Given the description of an element on the screen output the (x, y) to click on. 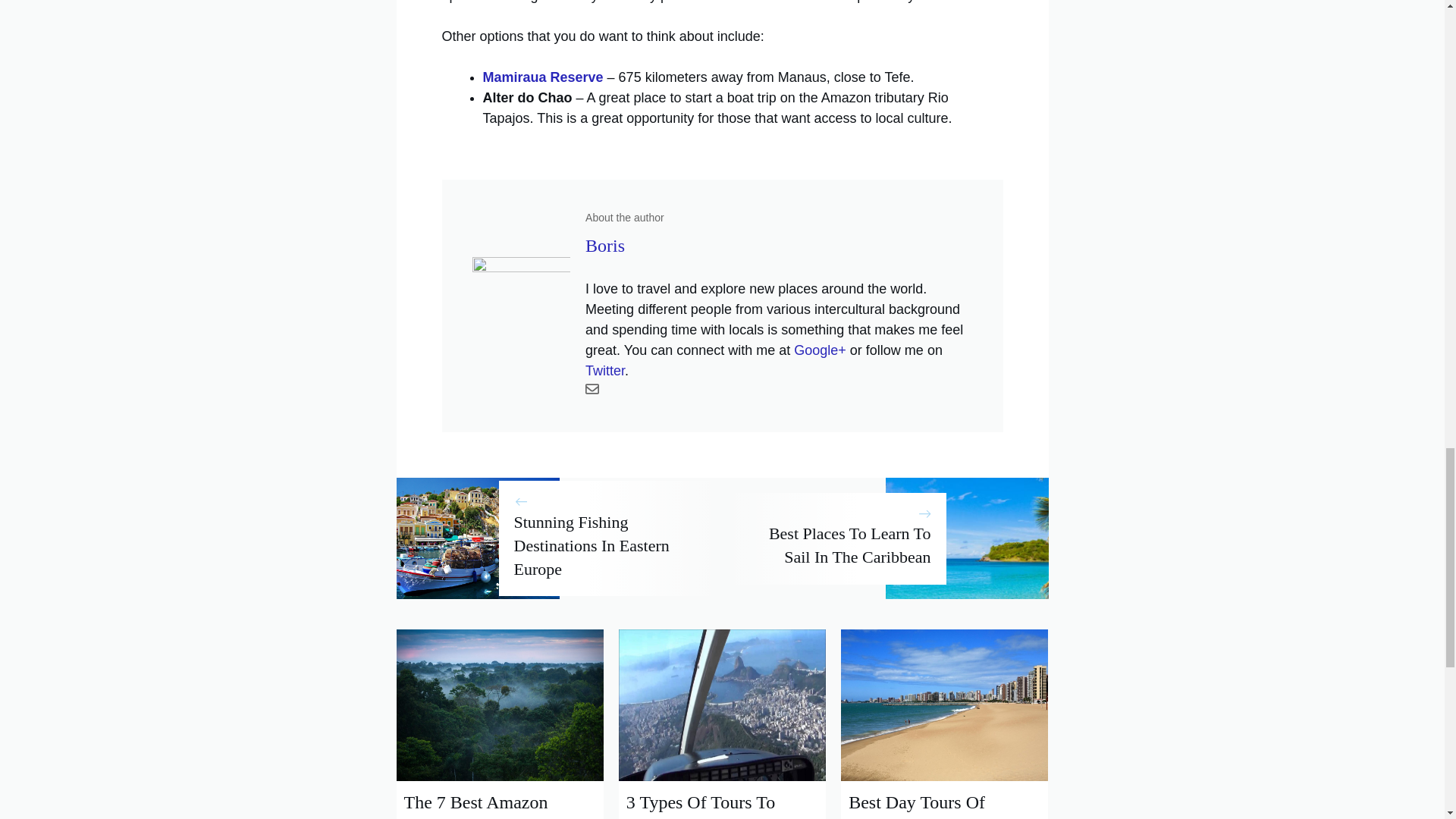
Boris (604, 245)
Stunning Fishing Destinations In Eastern Europe (591, 545)
Mamiraua Reserve (541, 77)
Best Places To Learn To Sail In The Caribbean (849, 545)
Twitter (604, 370)
